Given the description of an element on the screen output the (x, y) to click on. 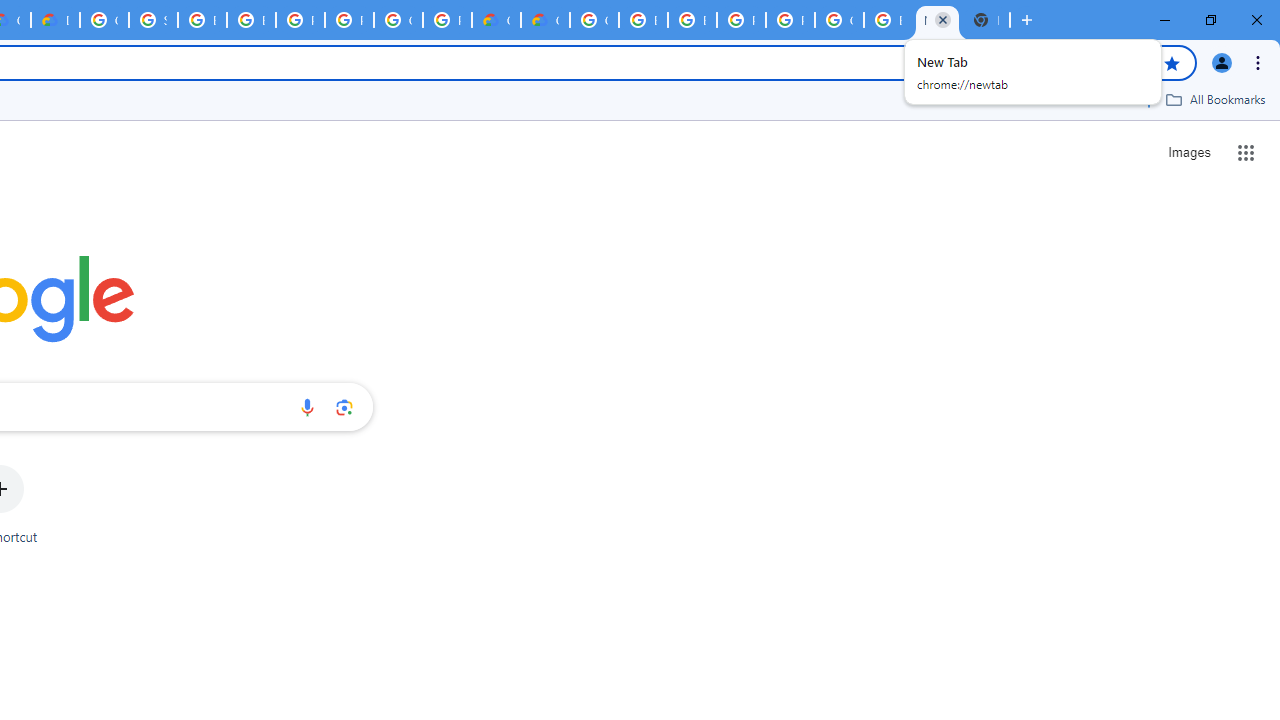
Search by voice (307, 407)
Sign in - Google Accounts (153, 20)
Google Cloud Estimate Summary (545, 20)
Browse Chrome as a guest - Computer - Google Chrome Help (692, 20)
Google Cloud Platform (104, 20)
Browse Chrome as a guest - Computer - Google Chrome Help (251, 20)
Search by image (344, 407)
All Bookmarks (1215, 99)
Browse Chrome as a guest - Computer - Google Chrome Help (201, 20)
